Given the description of an element on the screen output the (x, y) to click on. 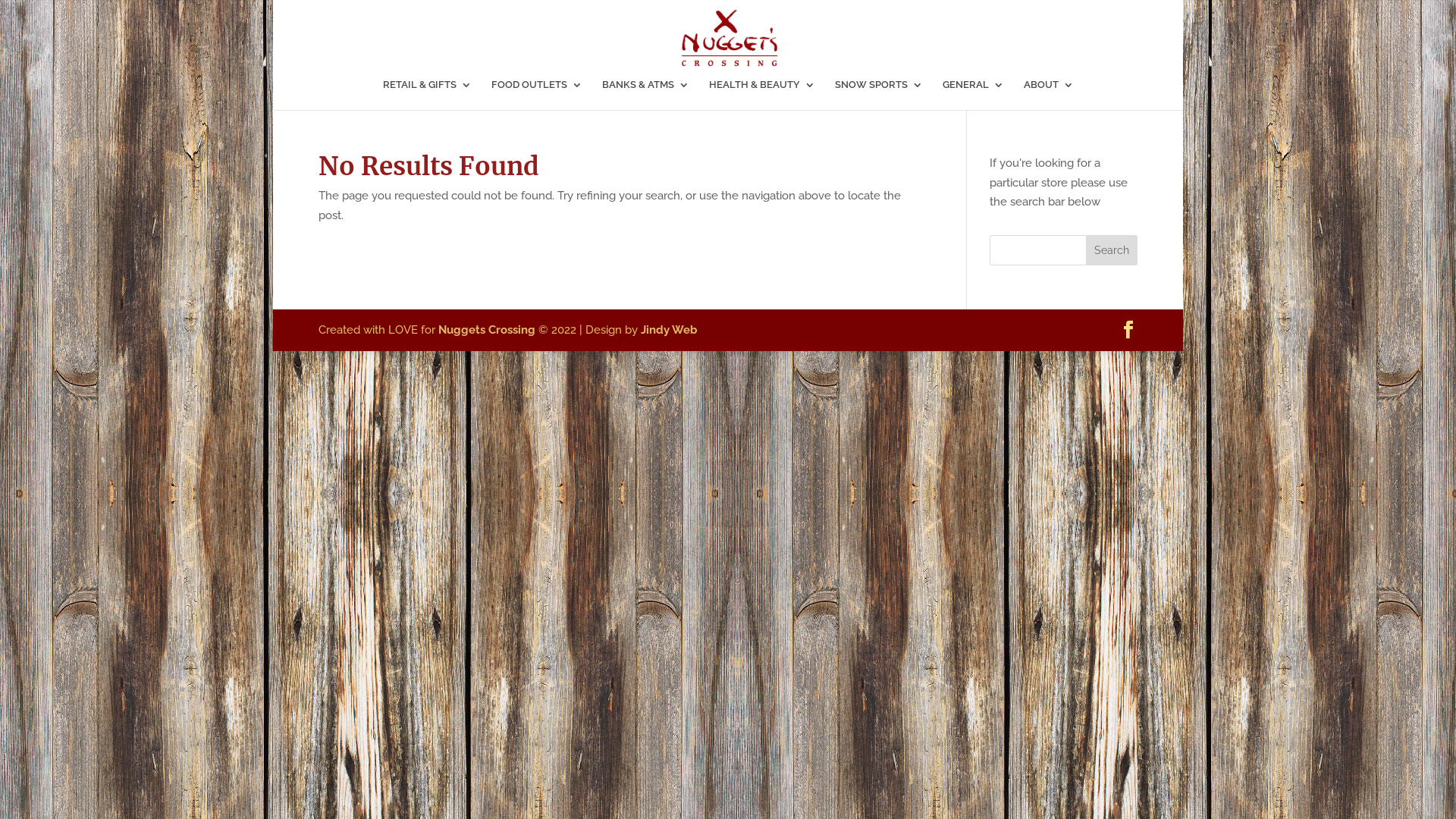
SNOW SPORTS Element type: text (878, 94)
Search Element type: text (1111, 250)
FOOD OUTLETS Element type: text (536, 94)
RETAIL & GIFTS Element type: text (426, 94)
BANKS & ATMS Element type: text (645, 94)
Jindy Web Element type: text (668, 329)
ABOUT Element type: text (1048, 94)
Nuggets Crossing Element type: text (486, 329)
HEALTH & BEAUTY Element type: text (761, 94)
GENERAL Element type: text (972, 94)
